Given the description of an element on the screen output the (x, y) to click on. 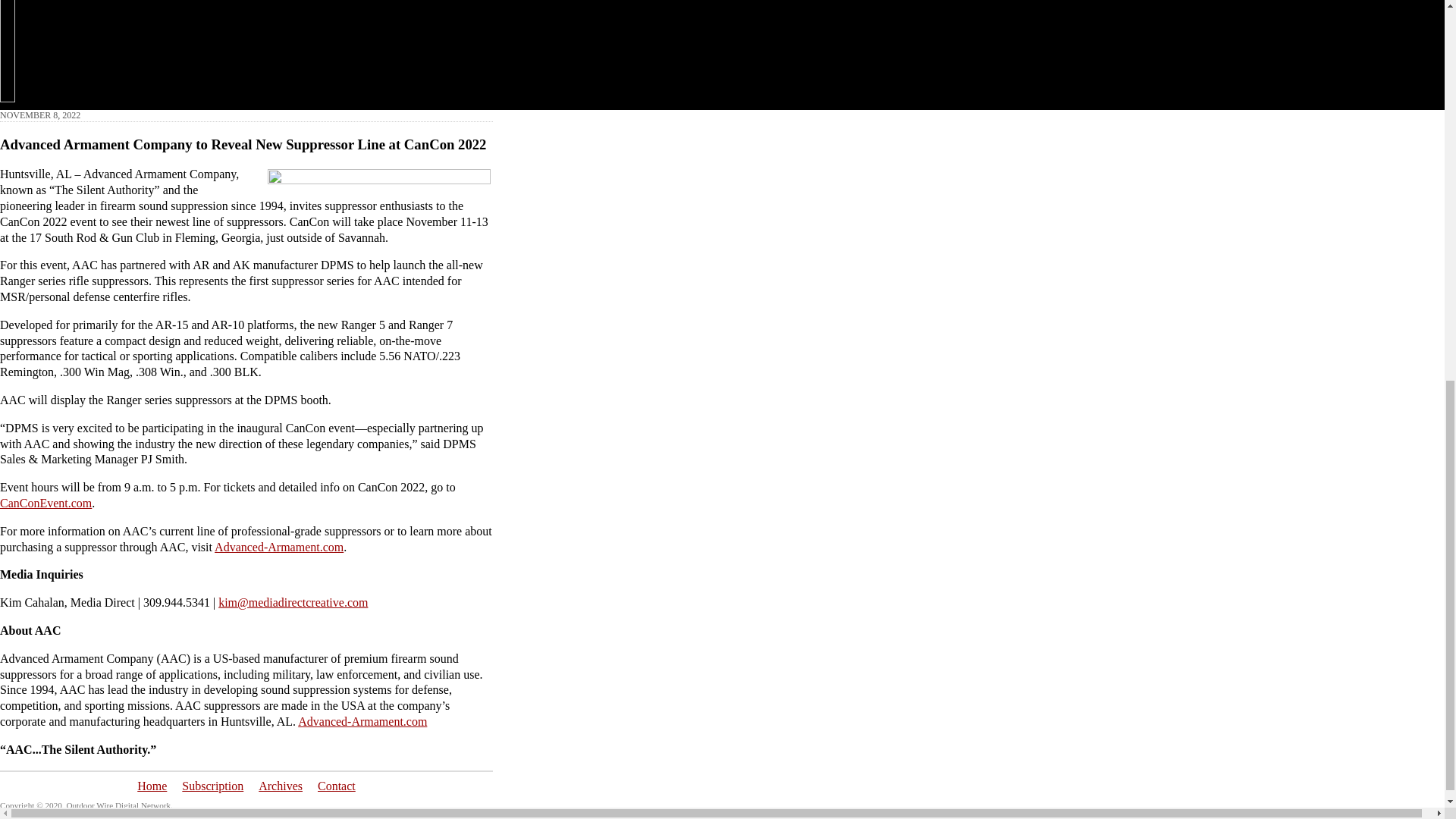
Subscription (212, 785)
Advanced-Armament.com (362, 721)
Home (151, 785)
CanConEvent.com (45, 502)
Archives (280, 785)
Contact (336, 785)
Advanced-Armament.com (278, 546)
